Given the description of an element on the screen output the (x, y) to click on. 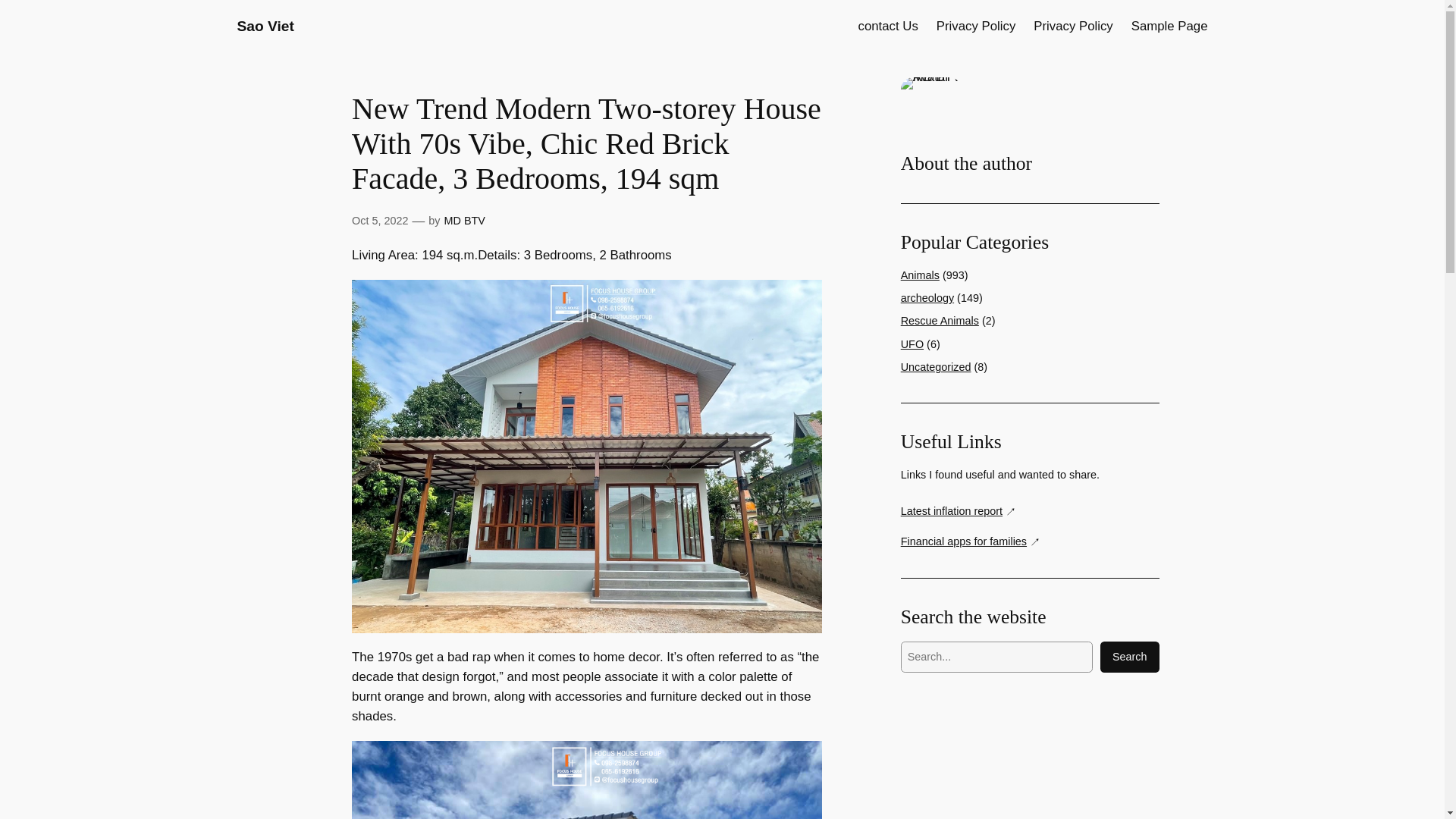
Privacy Policy (1072, 26)
UFO (912, 344)
MD BTV (464, 220)
Search (1129, 657)
Privacy Policy (975, 26)
Oct 5, 2022 (379, 220)
Rescue Animals (939, 320)
archeology (927, 297)
Latest inflation report (958, 511)
Sample Page (1169, 26)
Animals (920, 275)
Financial apps for families (971, 541)
contact Us (888, 26)
Uncategorized (936, 367)
Sao Viet (264, 26)
